Given the description of an element on the screen output the (x, y) to click on. 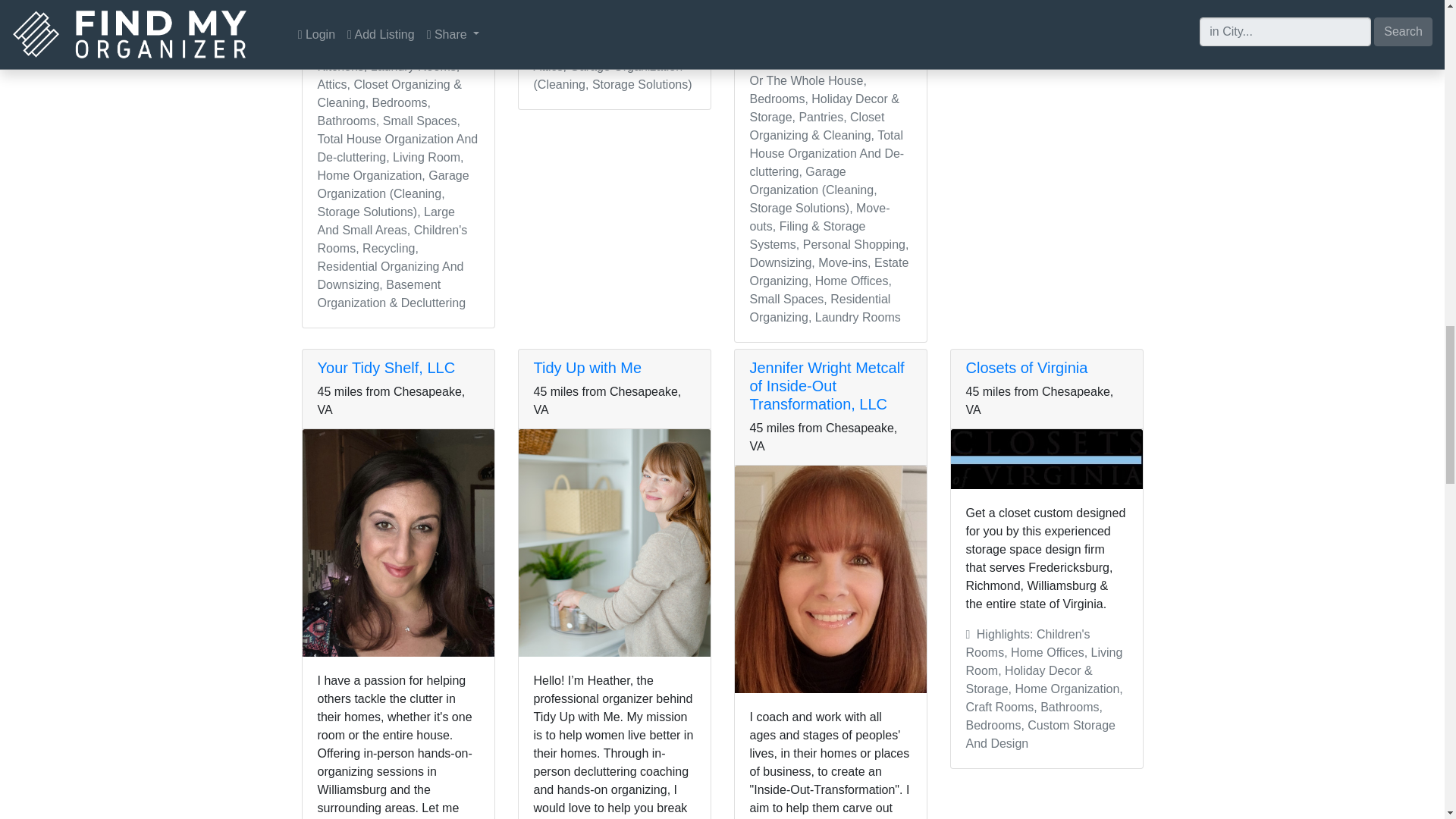
Closets of Virginia (1026, 367)
See More (855, 1)
Your Tidy Shelf, LLC (385, 367)
Tidy Up with Me (588, 367)
Jennifer Wright Metcalf of Inside-Out Transformation, LLC (826, 385)
